Given the description of an element on the screen output the (x, y) to click on. 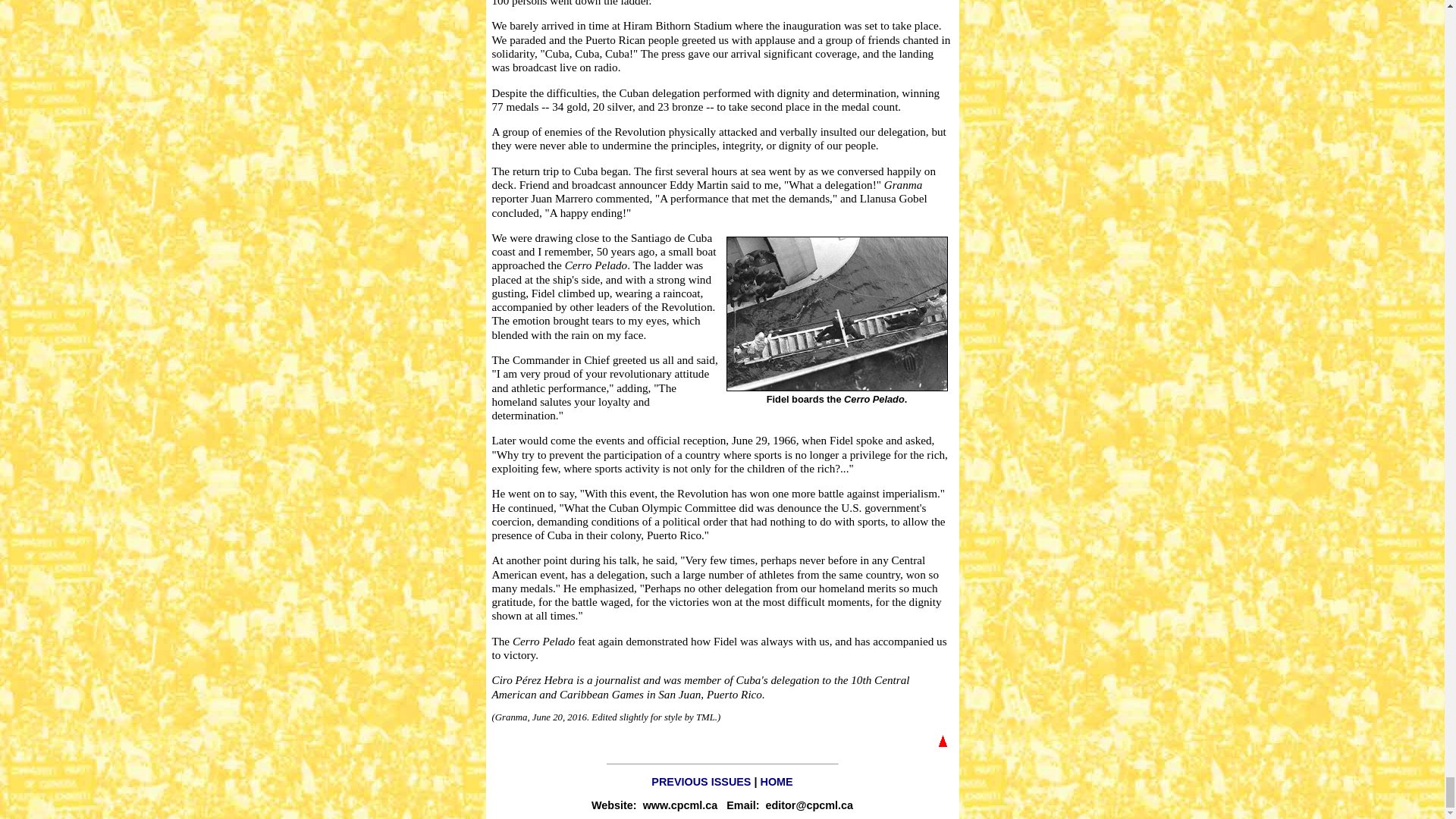
PREVIOUS ISSUES (700, 781)
HOME (776, 781)
